Given the description of an element on the screen output the (x, y) to click on. 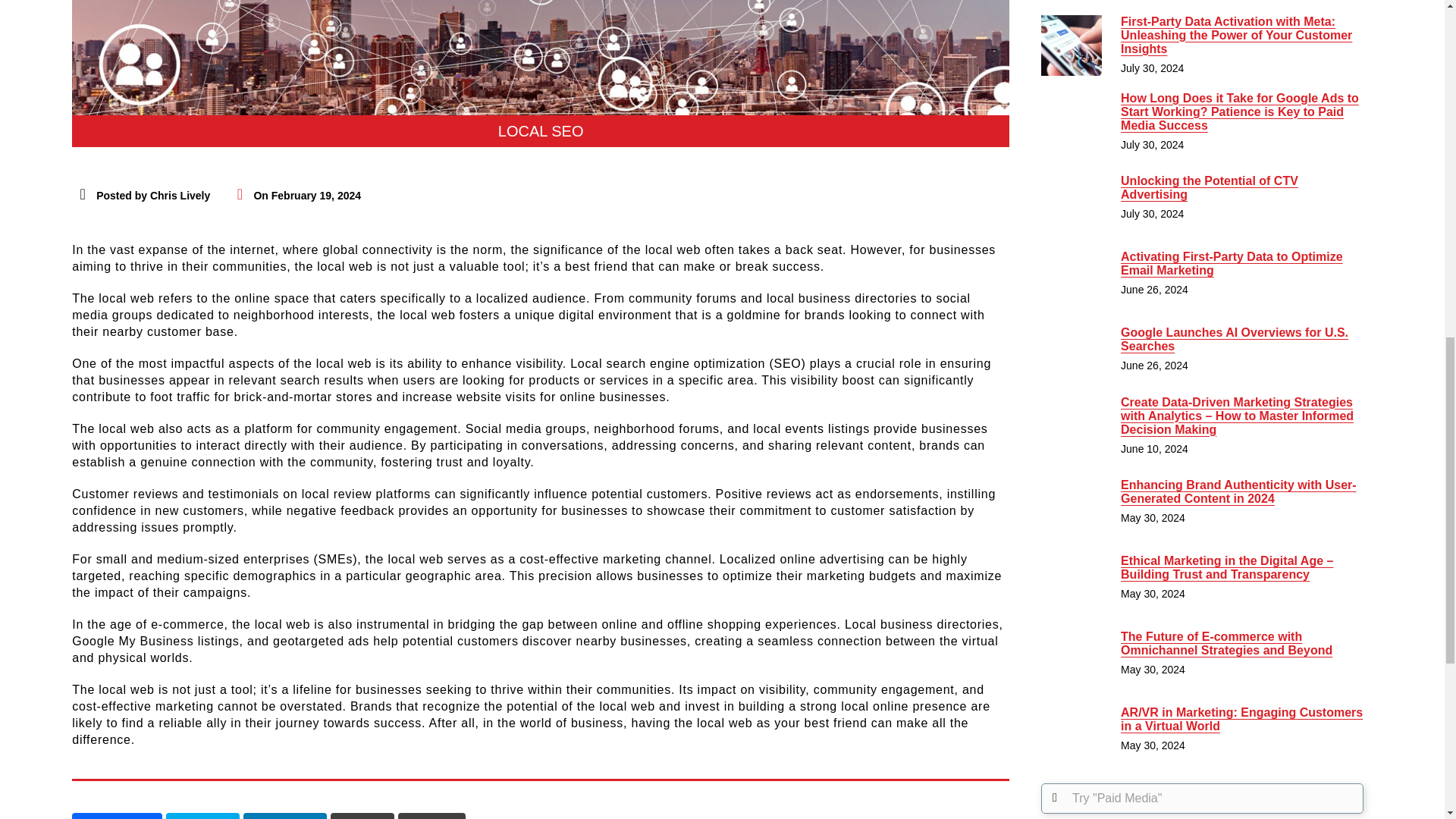
Share on Twitter (202, 816)
Share on Facebook (116, 816)
Share on Email (431, 816)
Share on LinkedIn (284, 816)
Share on Print (362, 816)
